Given the description of an element on the screen output the (x, y) to click on. 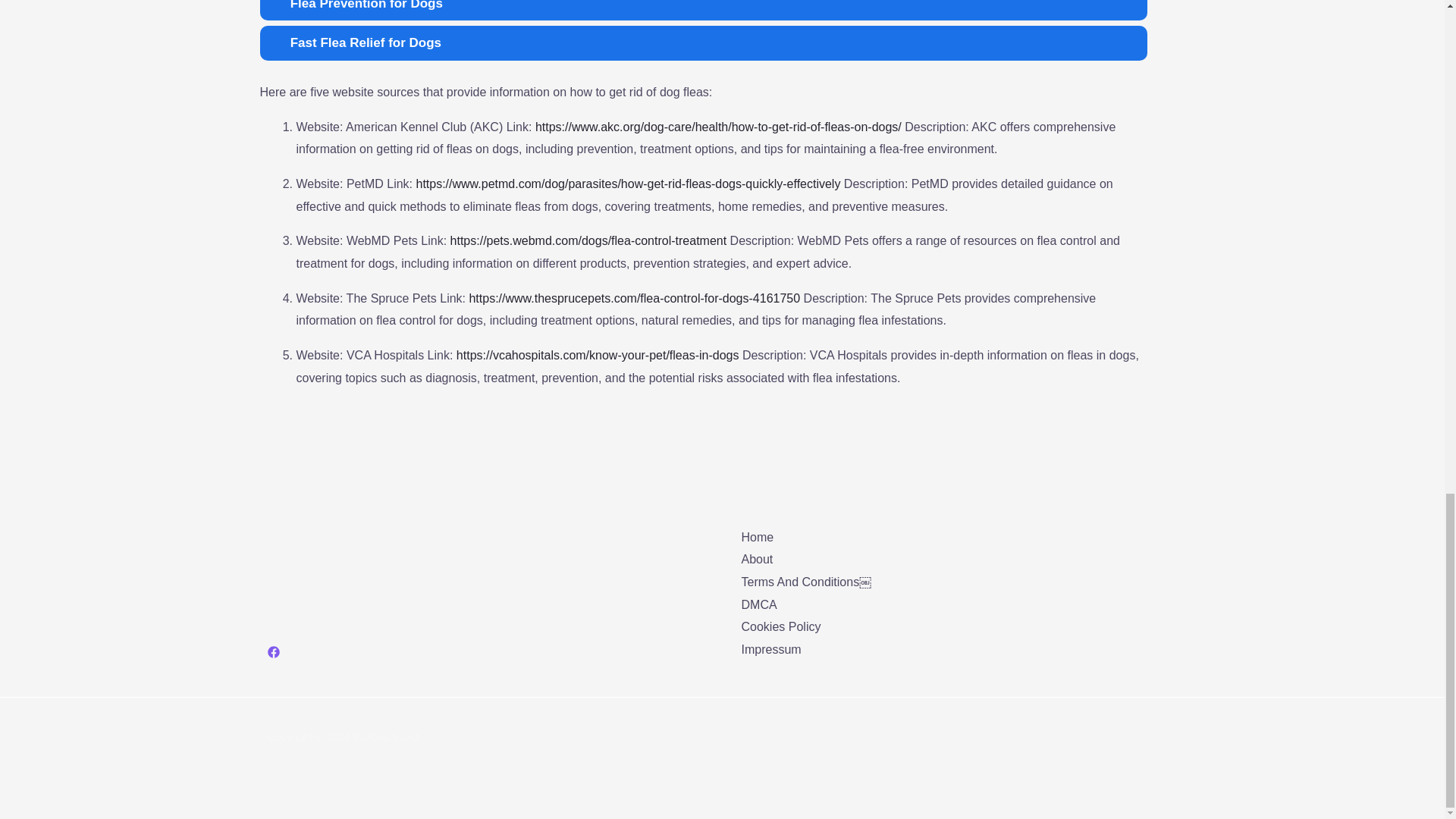
Fast Flea Relief for Dogs (703, 42)
Cookies Policy (781, 626)
Impressum (771, 649)
Home (757, 536)
About (757, 558)
DMCA (759, 604)
Flea Prevention for Dogs (703, 10)
